Given the description of an element on the screen output the (x, y) to click on. 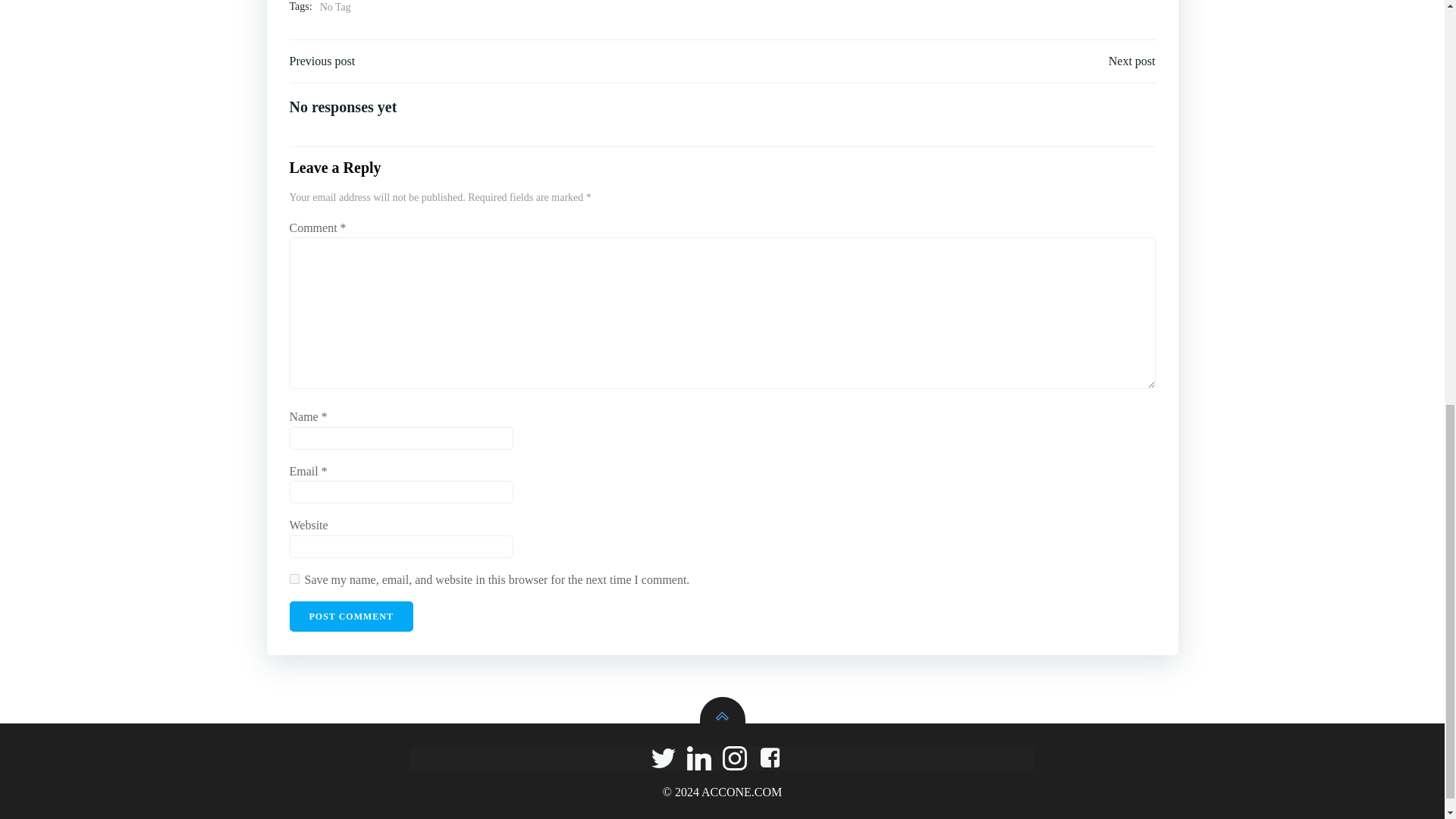
Post Comment (351, 616)
Next post (1132, 61)
yes (294, 578)
Previous post (322, 61)
Post Comment (351, 616)
